Given the description of an element on the screen output the (x, y) to click on. 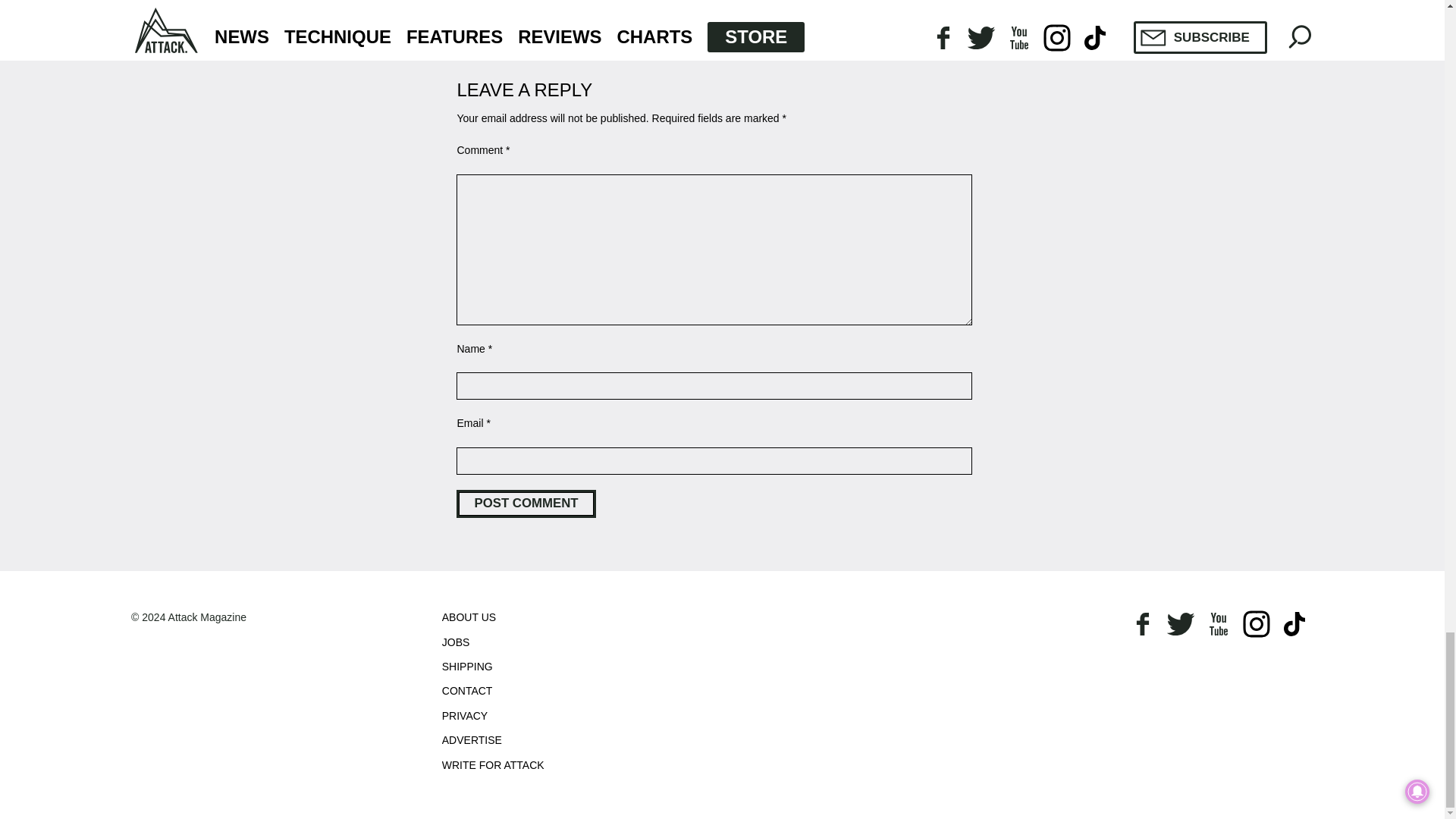
Post Comment (526, 503)
